Given the description of an element on the screen output the (x, y) to click on. 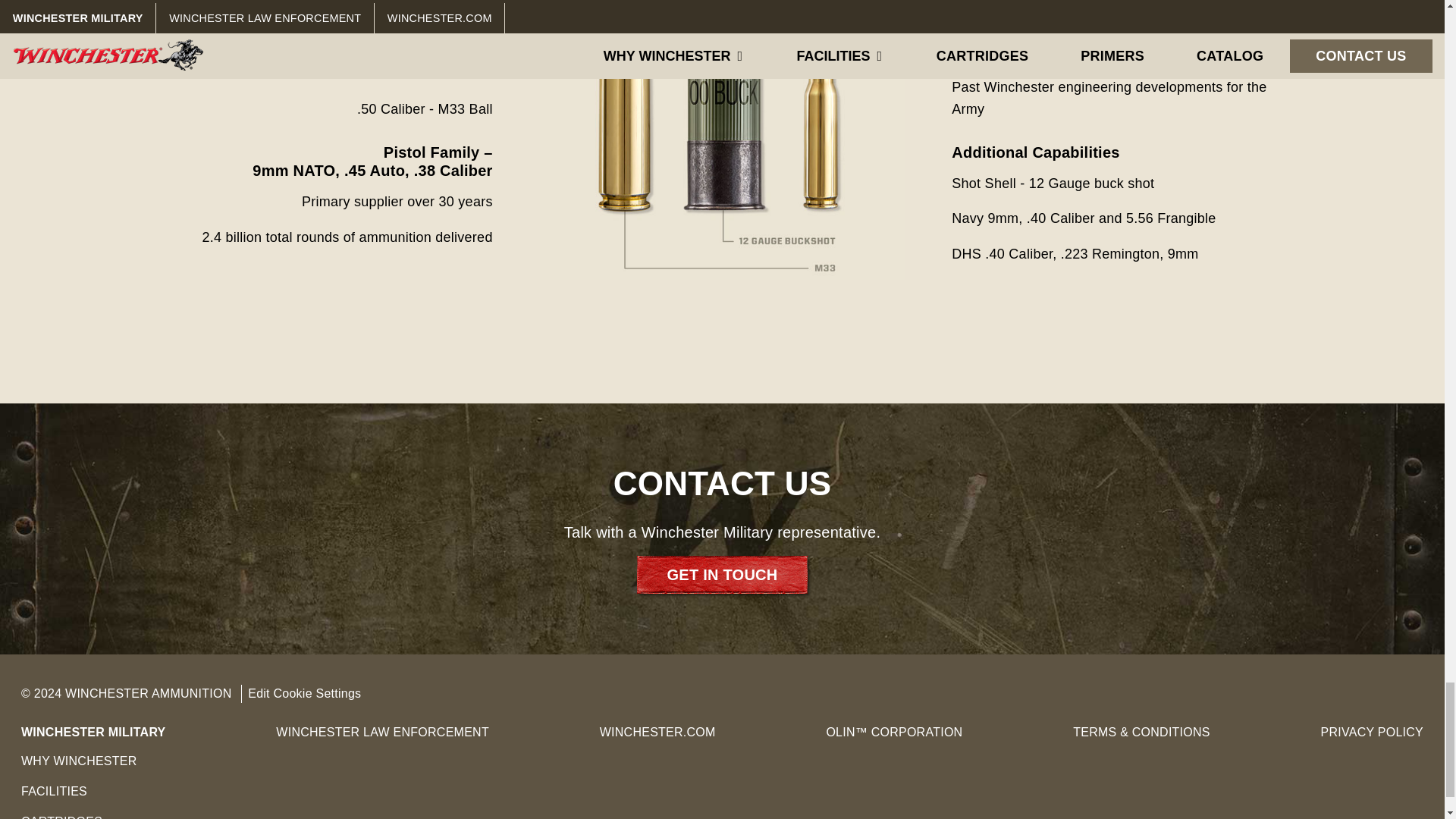
Get in Touch (722, 574)
GET IN TOUCH (722, 574)
Edit Cookie Settings (303, 693)
WINCHESTER MILITARY (93, 731)
